Given the description of an element on the screen output the (x, y) to click on. 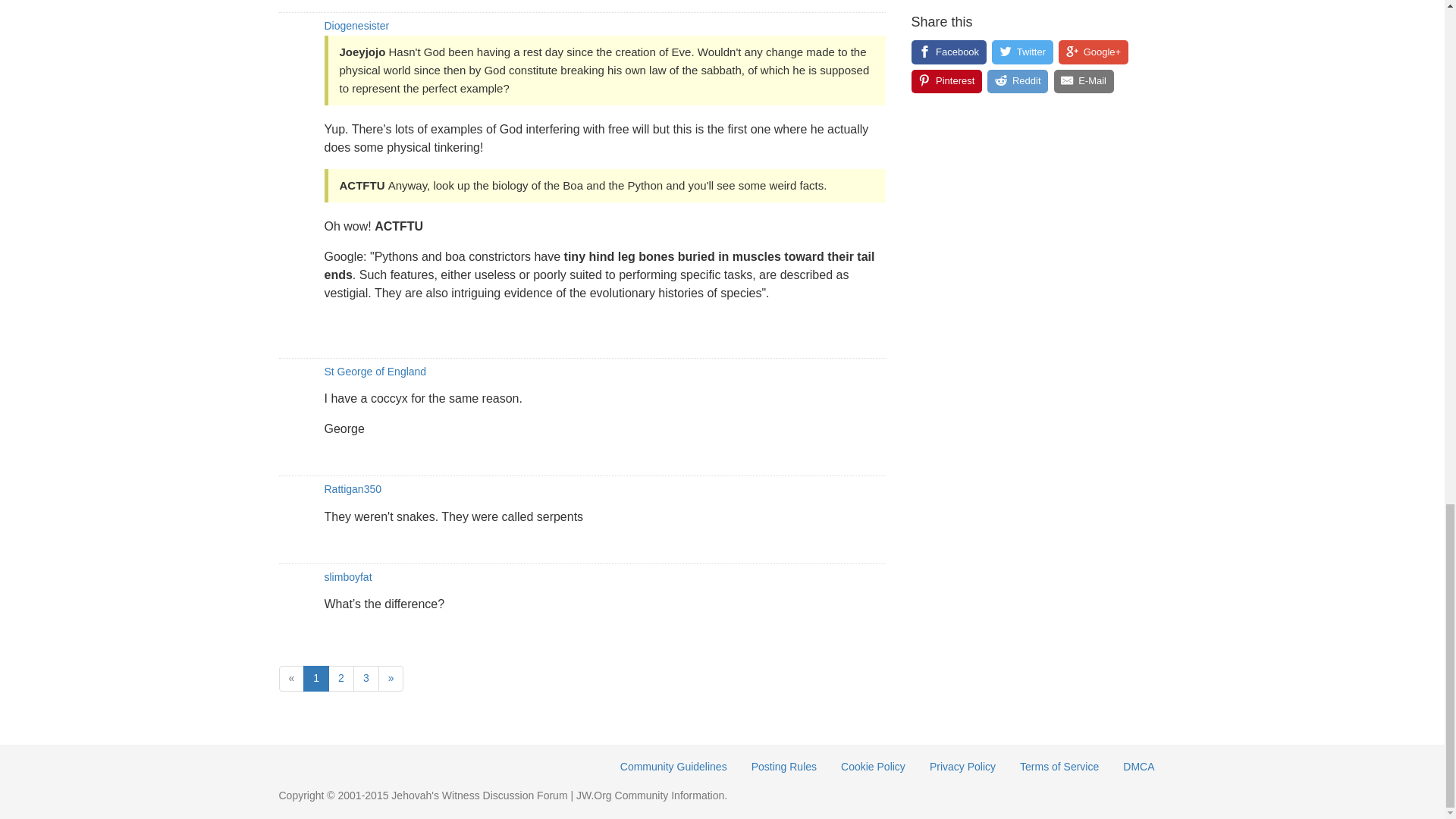
Page 1 (315, 678)
Page 2 (341, 678)
1 (315, 678)
Diogenesister (357, 25)
St George of England (375, 371)
next (391, 678)
Acluetofindtheuser (301, 2)
slimboyfat (348, 576)
2 (341, 678)
Rattigan350 (352, 489)
